Given the description of an element on the screen output the (x, y) to click on. 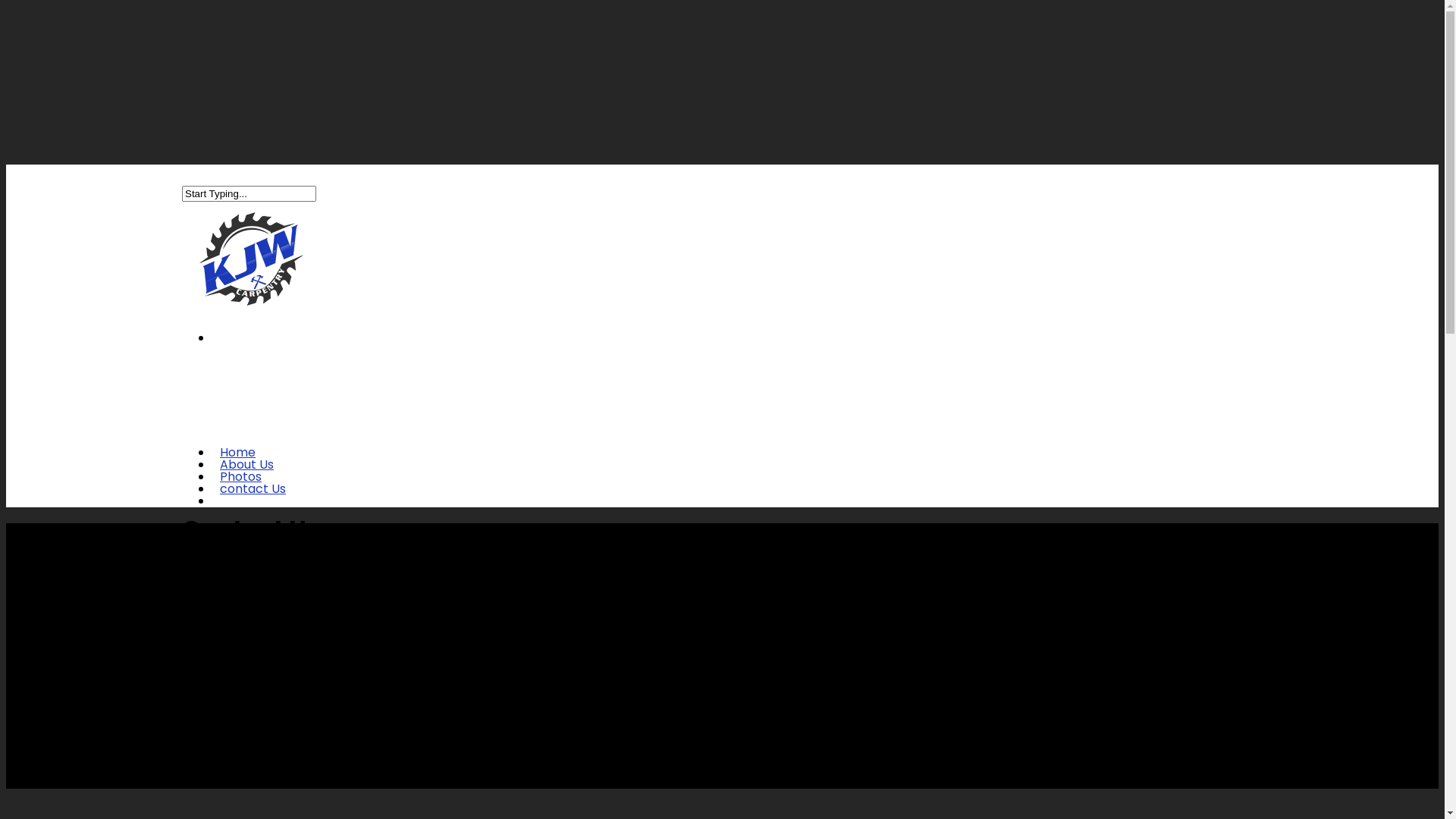
About Us Element type: text (246, 474)
Get a Quote Element type: text (256, 511)
Photos Element type: text (240, 487)
Home Element type: text (237, 462)
contact Us Element type: text (252, 499)
